Given the description of an element on the screen output the (x, y) to click on. 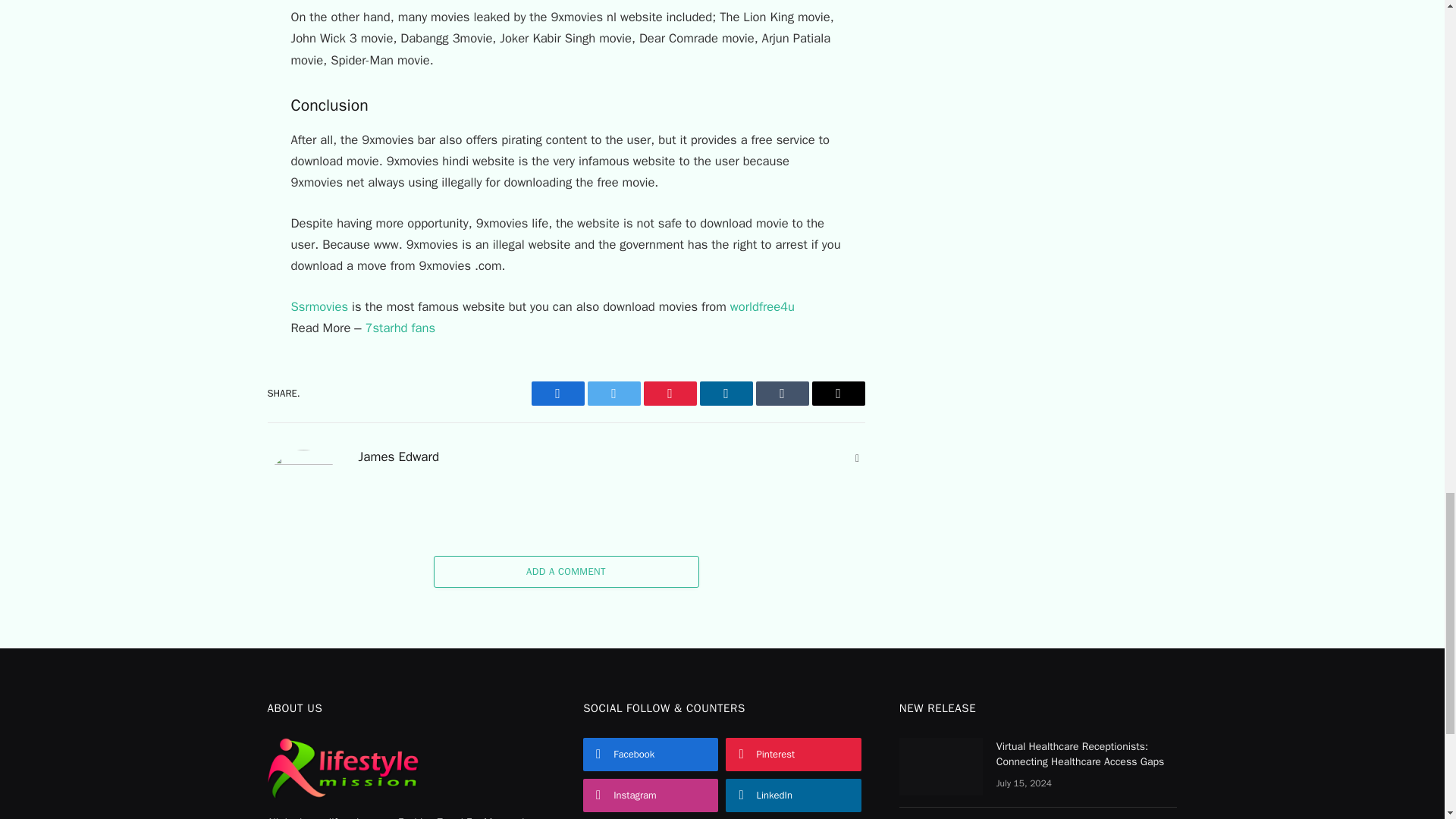
worldfree4u (760, 306)
7starhd fans (400, 327)
Ssrmovies (320, 306)
Facebook (557, 393)
